Given the description of an element on the screen output the (x, y) to click on. 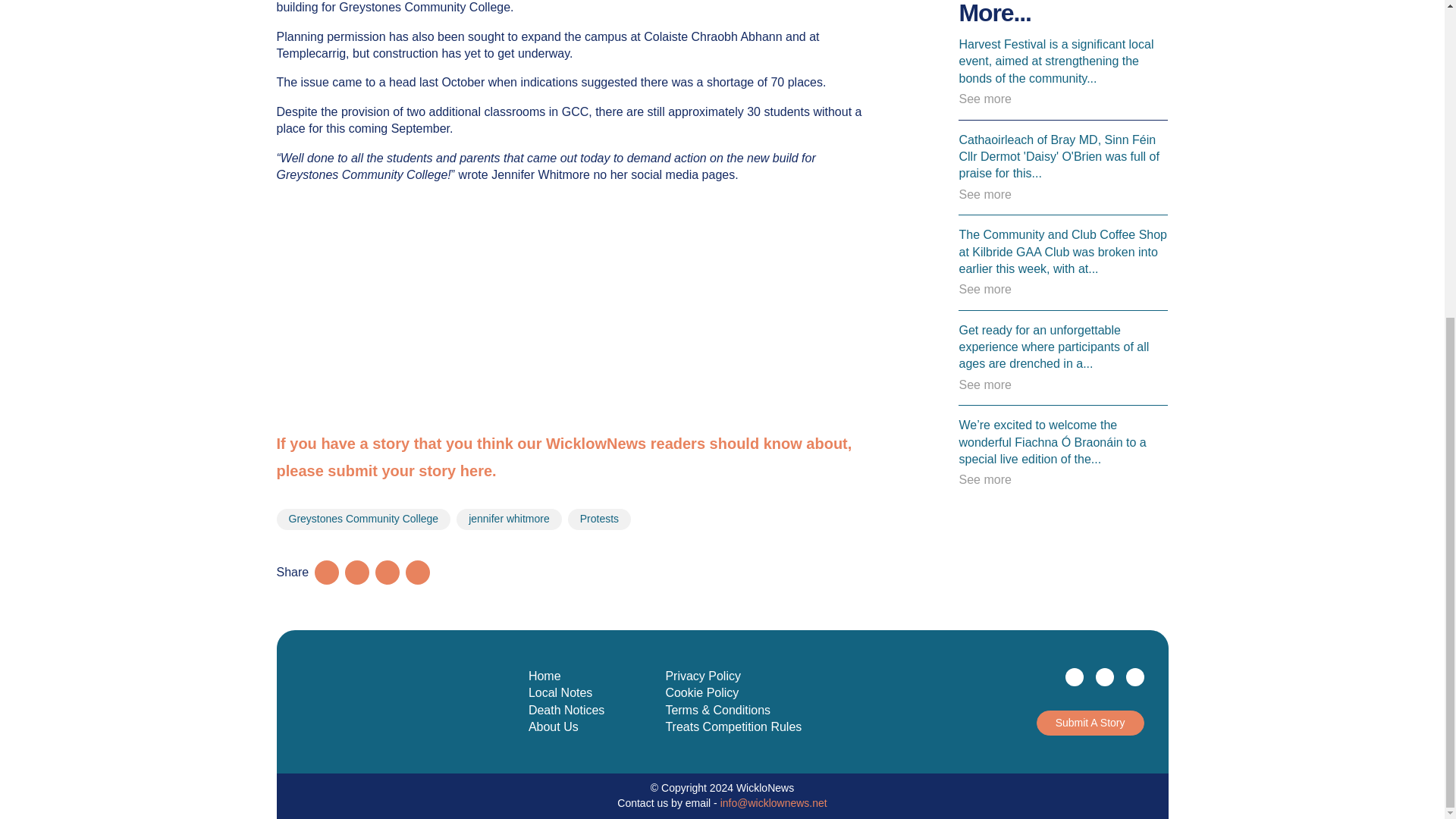
jennifer whitmore (509, 518)
Greystones Community College (362, 518)
Protests (598, 518)
